Given the description of an element on the screen output the (x, y) to click on. 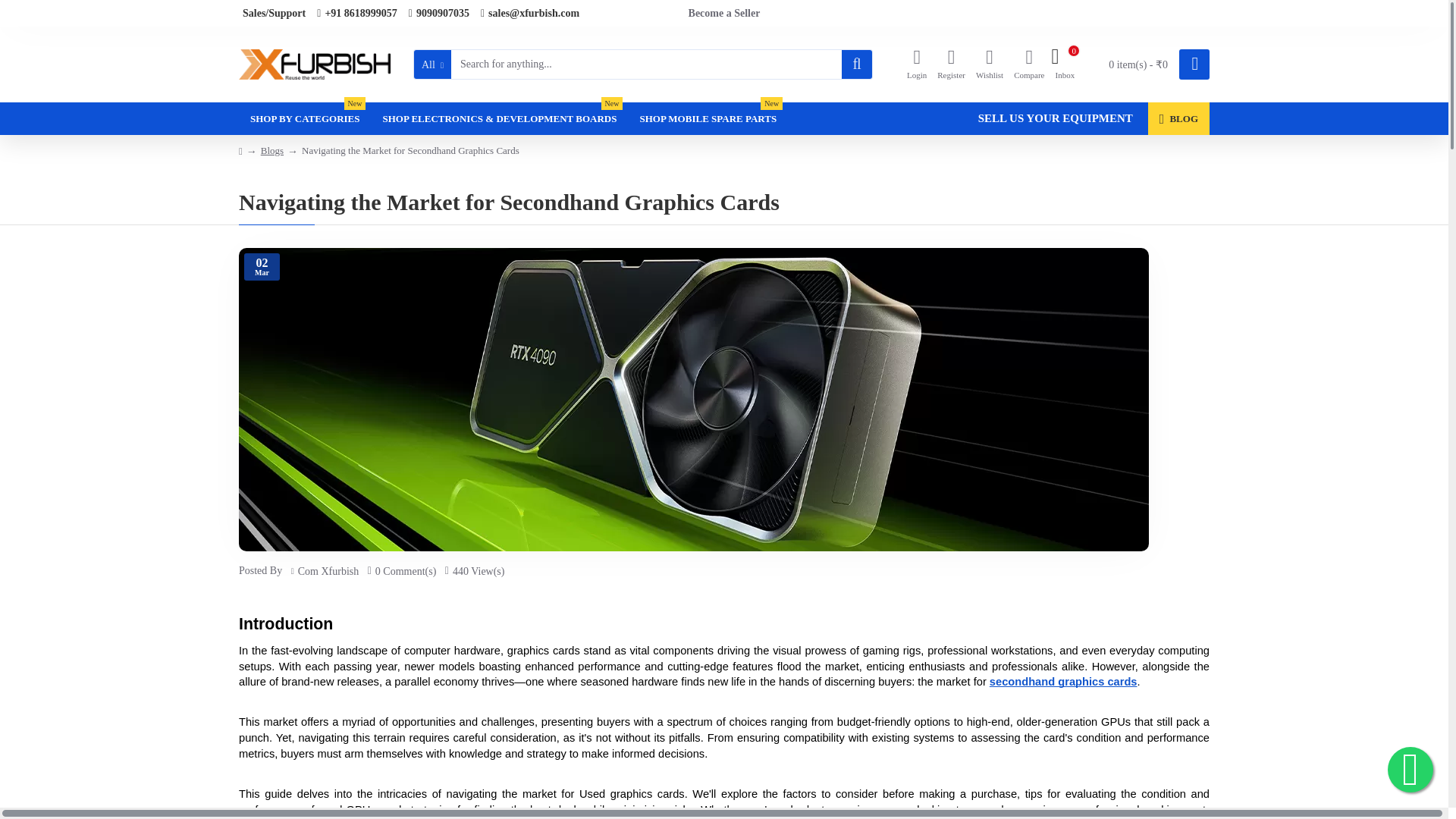
Become a Seller (724, 13)
9090907035 (1064, 74)
Compare (438, 13)
Xfurbish.com (1029, 64)
Navigating the Market for Secondhand Graphics Cards (316, 63)
